Given the description of an element on the screen output the (x, y) to click on. 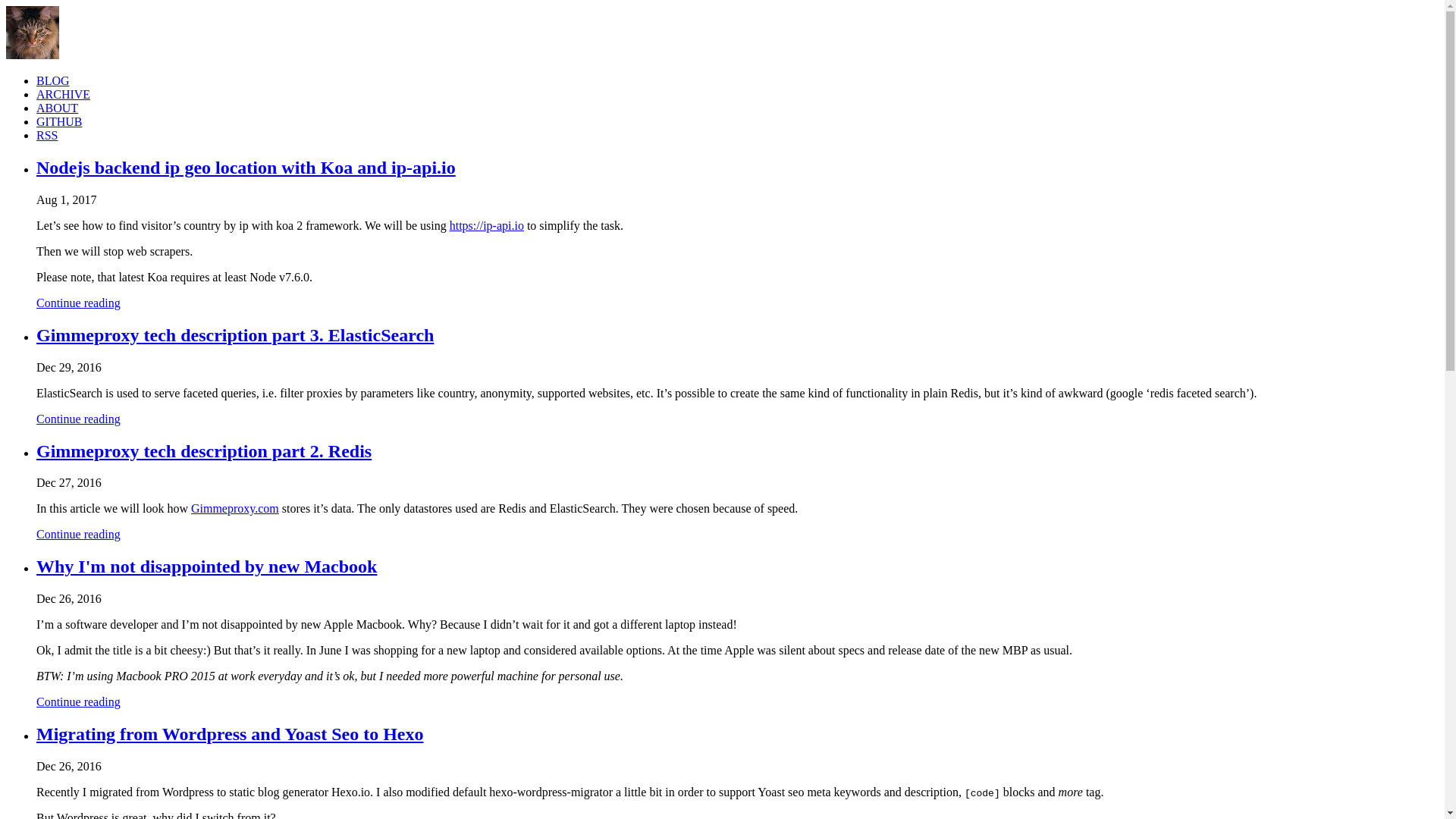
GITHUB Element type: text (58, 121)
Migrating from Wordpress and Yoast Seo to Hexo Element type: text (229, 733)
Gimmeproxy.com Element type: text (235, 508)
BLOG Element type: text (52, 80)
Gimmeproxy tech description part 3. ElasticSearch Element type: text (234, 335)
ABOUT Element type: text (57, 107)
Gimmeproxy tech description part 2. Redis Element type: text (203, 451)
Continue reading Element type: text (78, 302)
Continue reading Element type: text (78, 701)
Nodejs backend ip geo location with Koa and ip-api.io Element type: text (245, 167)
Why I'm not disappointed by new Macbook Element type: text (206, 566)
ARCHIVE Element type: text (63, 93)
https://ip-api.io Element type: text (486, 225)
Continue reading Element type: text (78, 418)
RSS Element type: text (46, 134)
Continue reading Element type: text (78, 533)
